Given the description of an element on the screen output the (x, y) to click on. 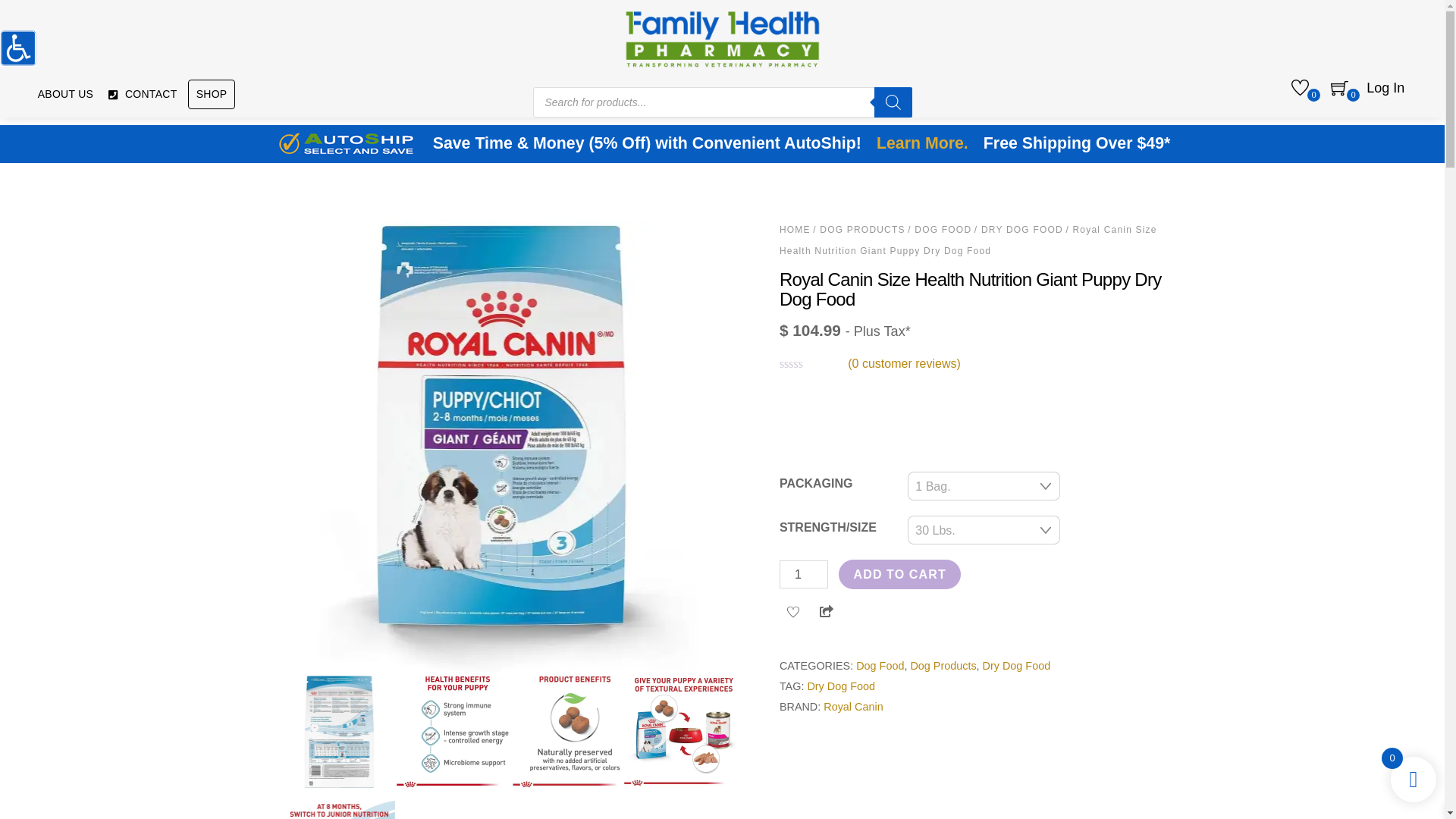
Dog Products (942, 665)
Dry Dog Food (1016, 665)
CONTACT (141, 94)
Royal Canin (853, 706)
Log In (1384, 88)
Dry Dog Food (840, 686)
ABOUT US (65, 94)
Dog Food (880, 665)
Learn More. (922, 143)
1Family 1Health Pharmacy (722, 37)
